Given the description of an element on the screen output the (x, y) to click on. 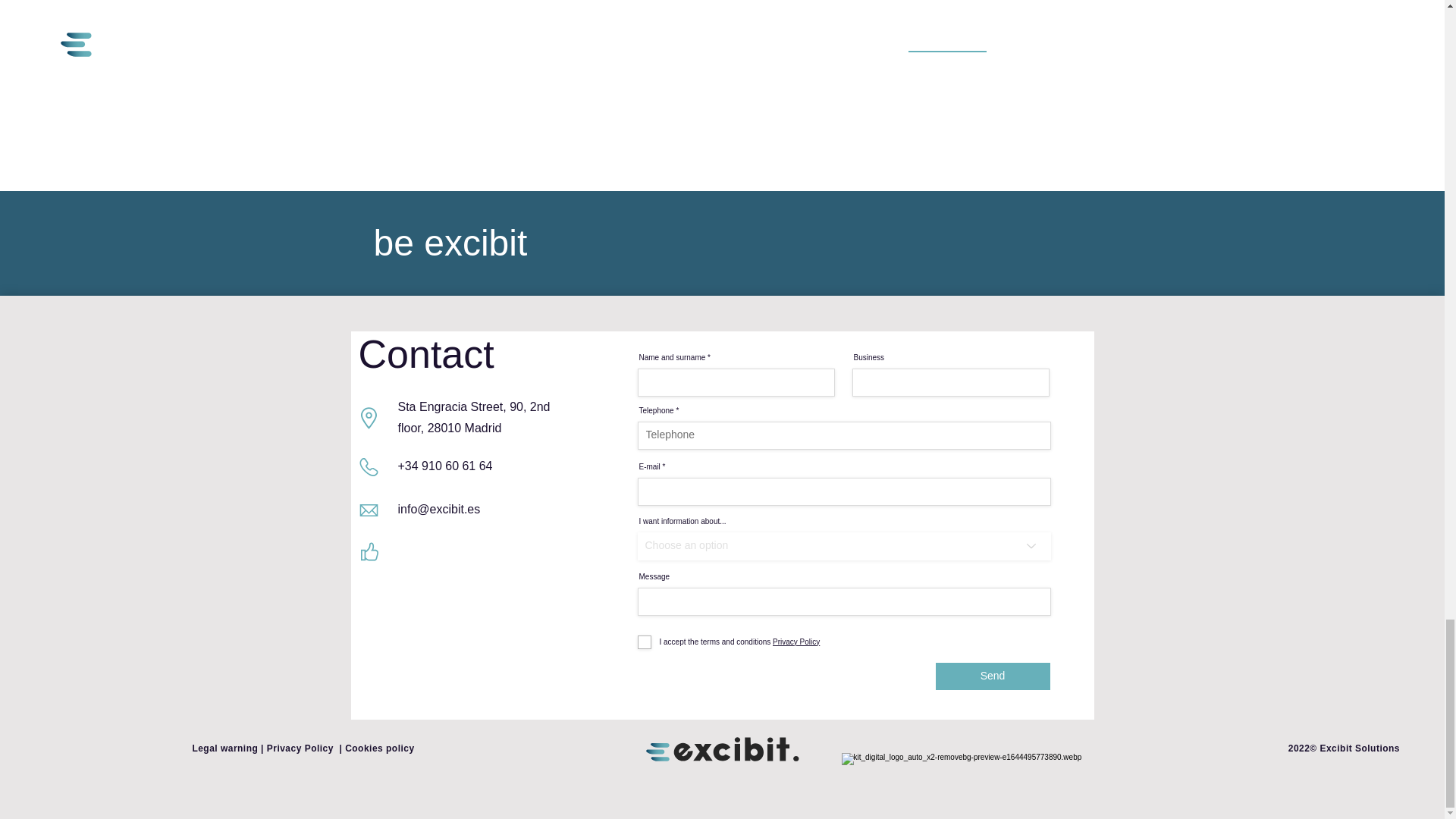
Send (992, 676)
Cookies policy (379, 747)
Privacy Policy (794, 642)
Privacy Policy (299, 747)
Legal warning  (226, 747)
